Given the description of an element on the screen output the (x, y) to click on. 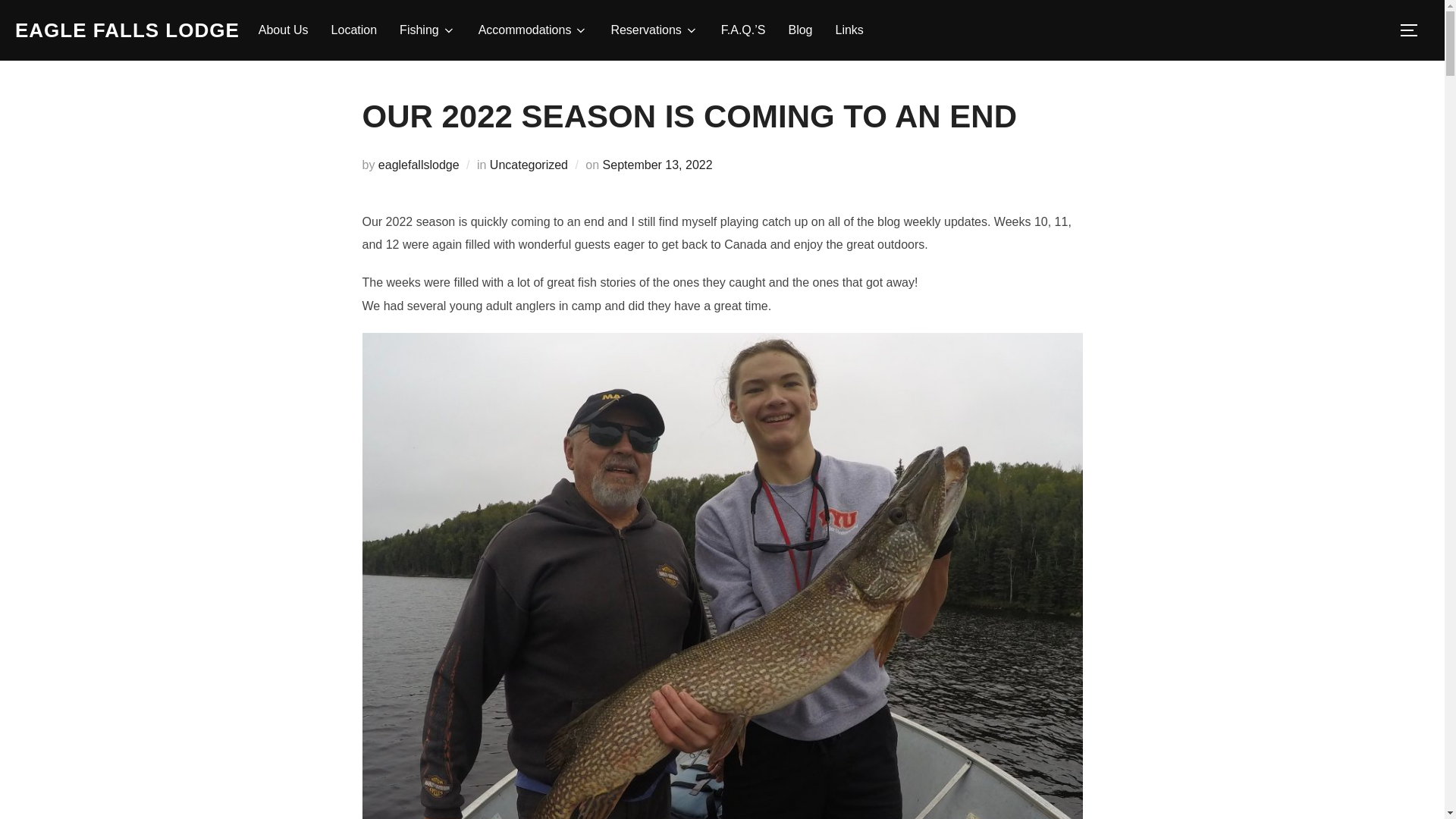
Northwestern Ontario Fishing at its Finest! (127, 30)
About Us (283, 30)
EAGLE FALLS LODGE (127, 30)
Location (354, 30)
Fishing (426, 30)
